Given the description of an element on the screen output the (x, y) to click on. 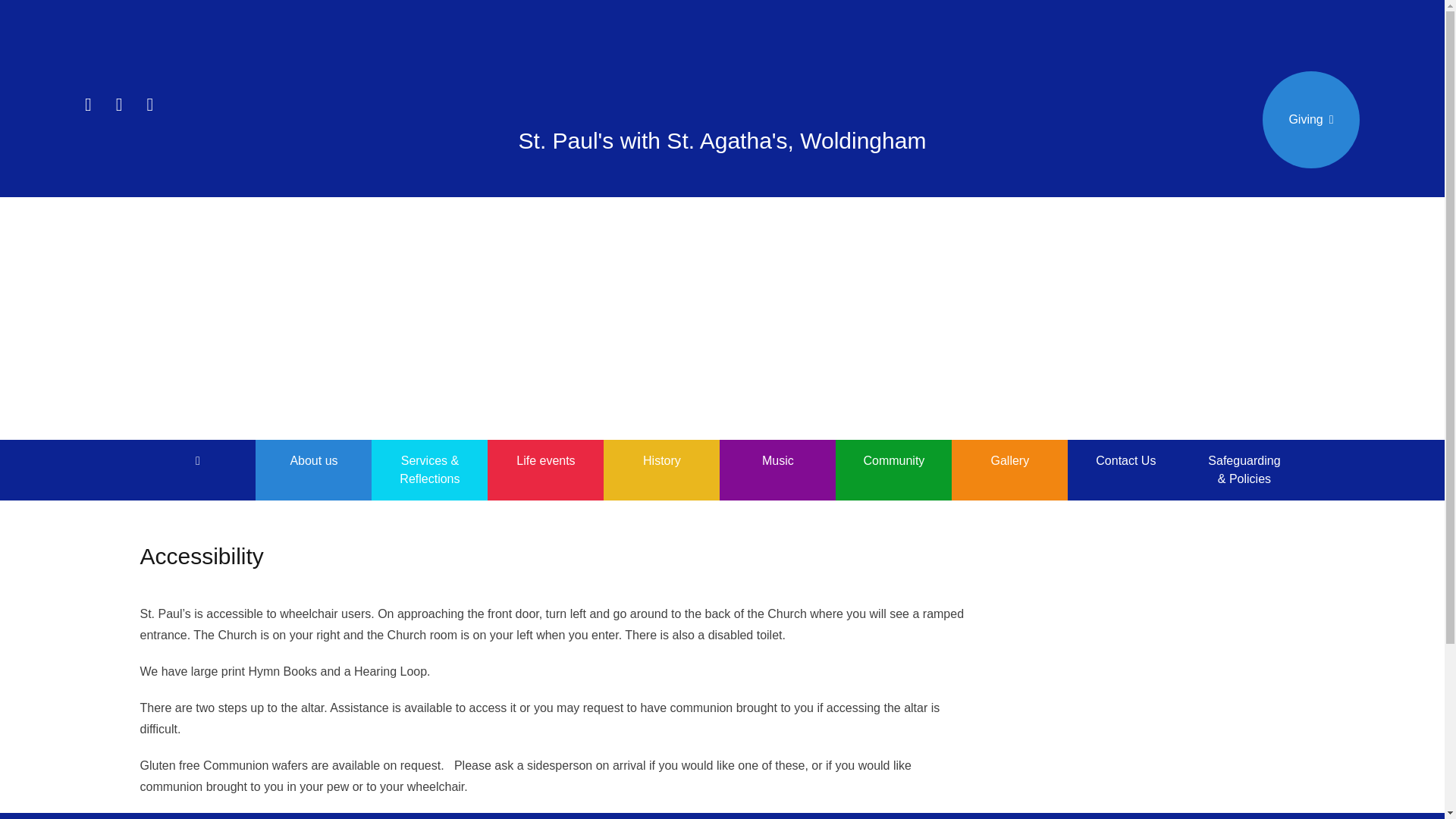
About us (313, 460)
Giving (1310, 119)
History (661, 460)
Gallery (1009, 460)
St. Paul's with St. Agatha's, Woldingham (722, 140)
Life events (545, 460)
Community (893, 460)
Music (777, 460)
Contact Us (1125, 460)
